Given the description of an element on the screen output the (x, y) to click on. 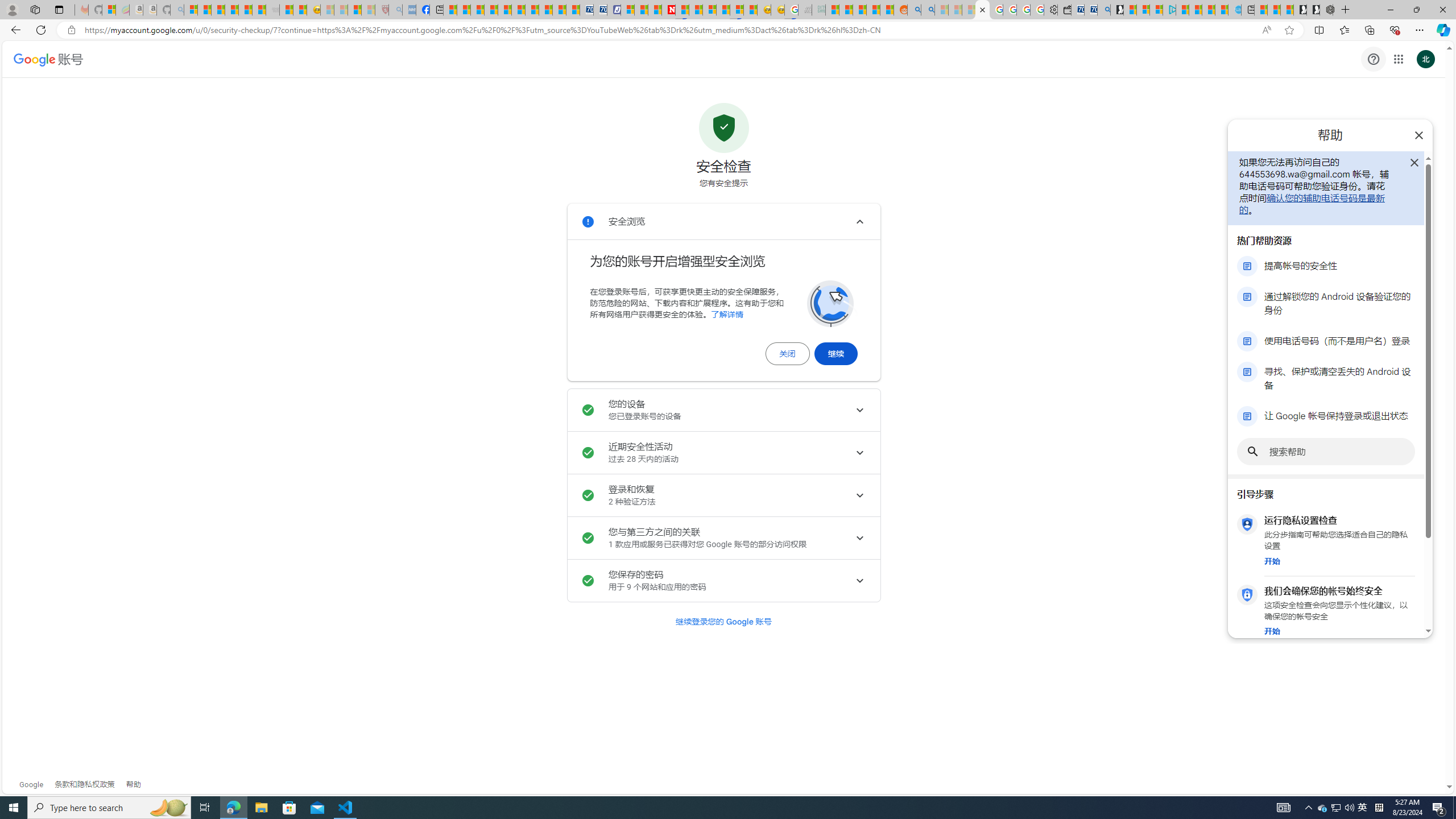
DITOGAMES AG Imprint - Sleeping (817, 9)
Microsoft-Report a Concern to Bing (108, 9)
Microsoft account | Privacy (1155, 9)
